Given the description of an element on the screen output the (x, y) to click on. 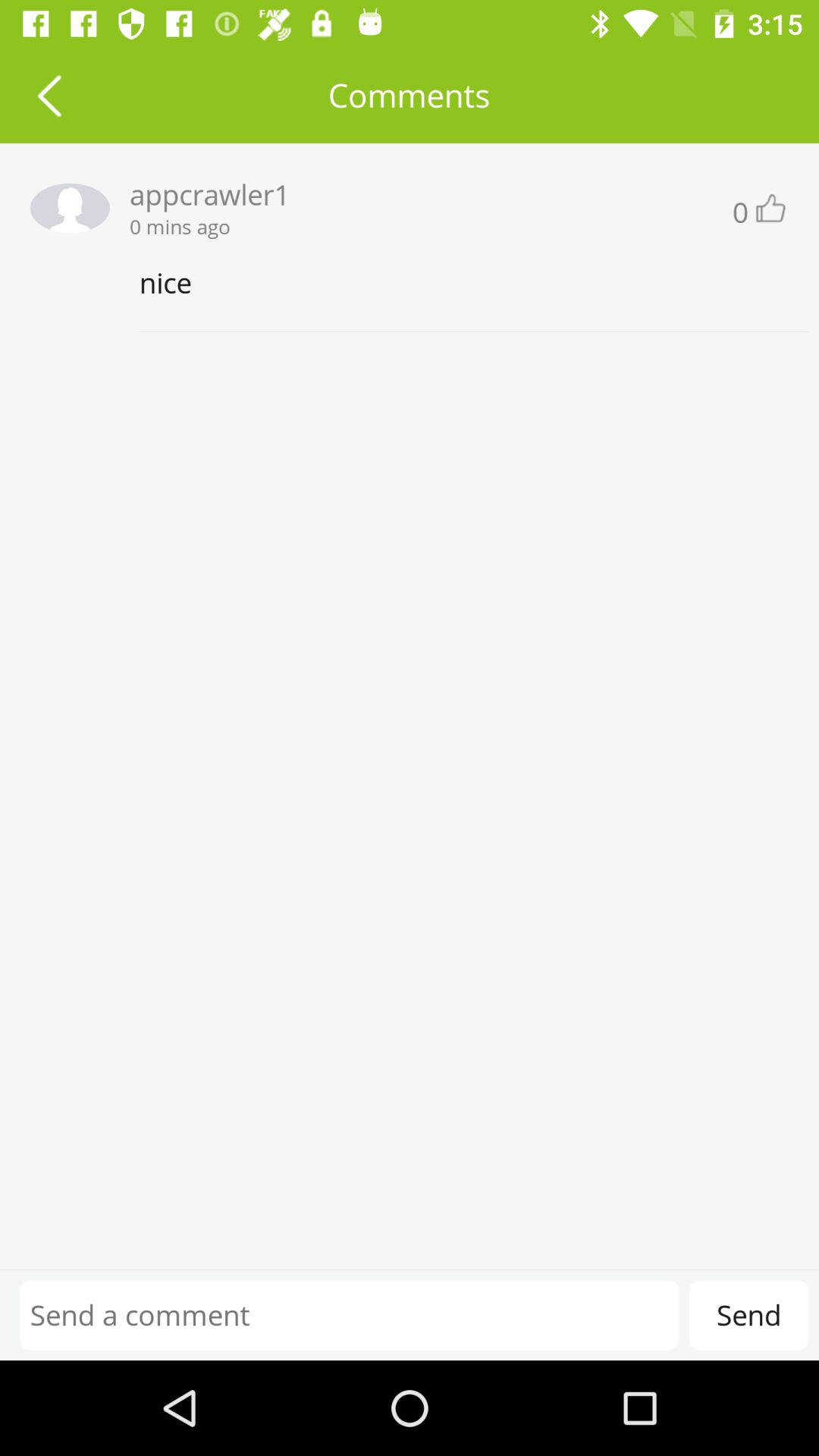
launch the icon above nice icon (768, 207)
